Given the description of an element on the screen output the (x, y) to click on. 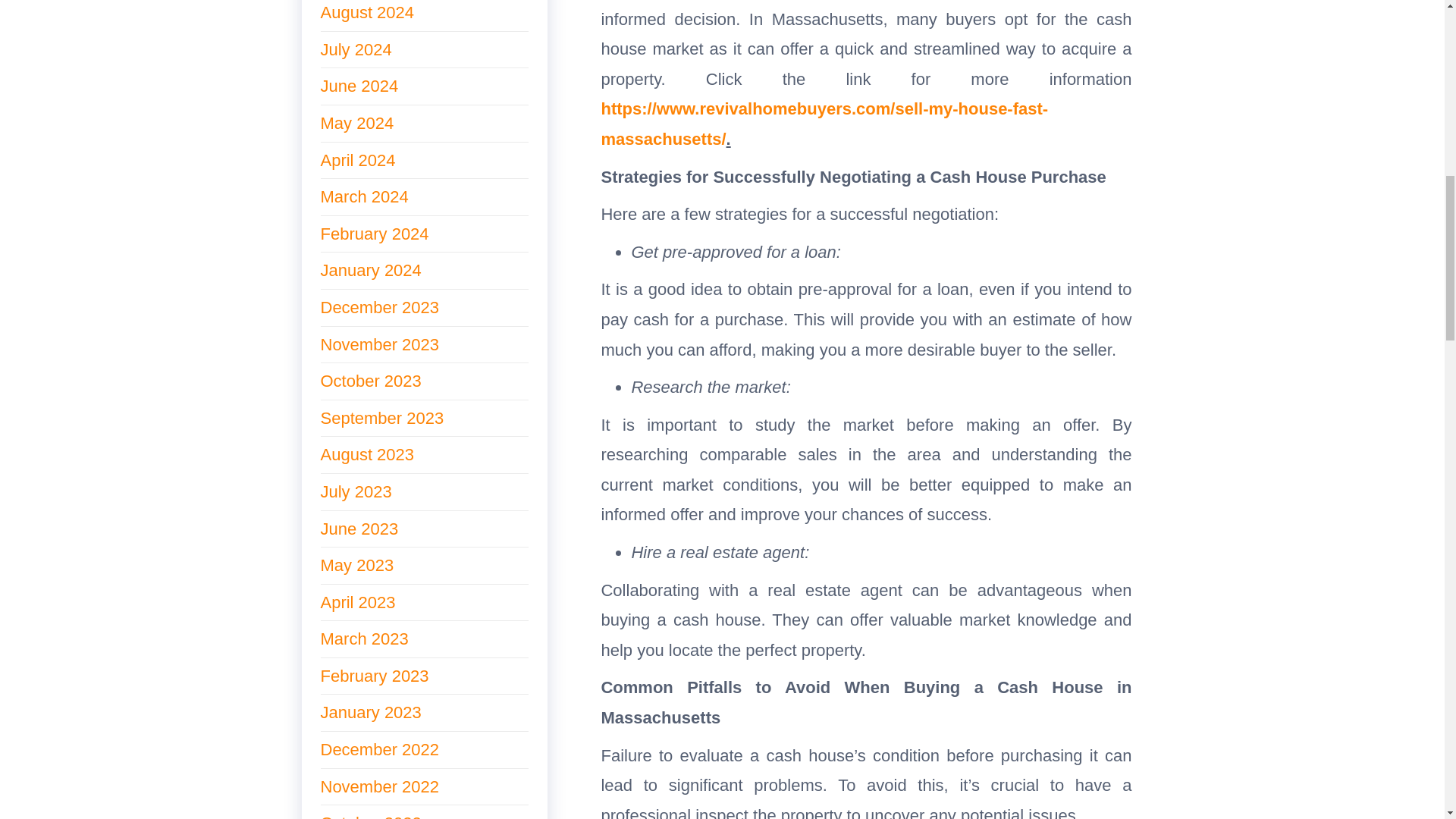
May 2024 (356, 122)
February 2023 (374, 675)
December 2023 (379, 307)
November 2022 (379, 786)
August 2024 (366, 12)
June 2024 (358, 85)
October 2022 (370, 816)
January 2024 (370, 270)
March 2023 (363, 638)
April 2024 (357, 159)
